Given the description of an element on the screen output the (x, y) to click on. 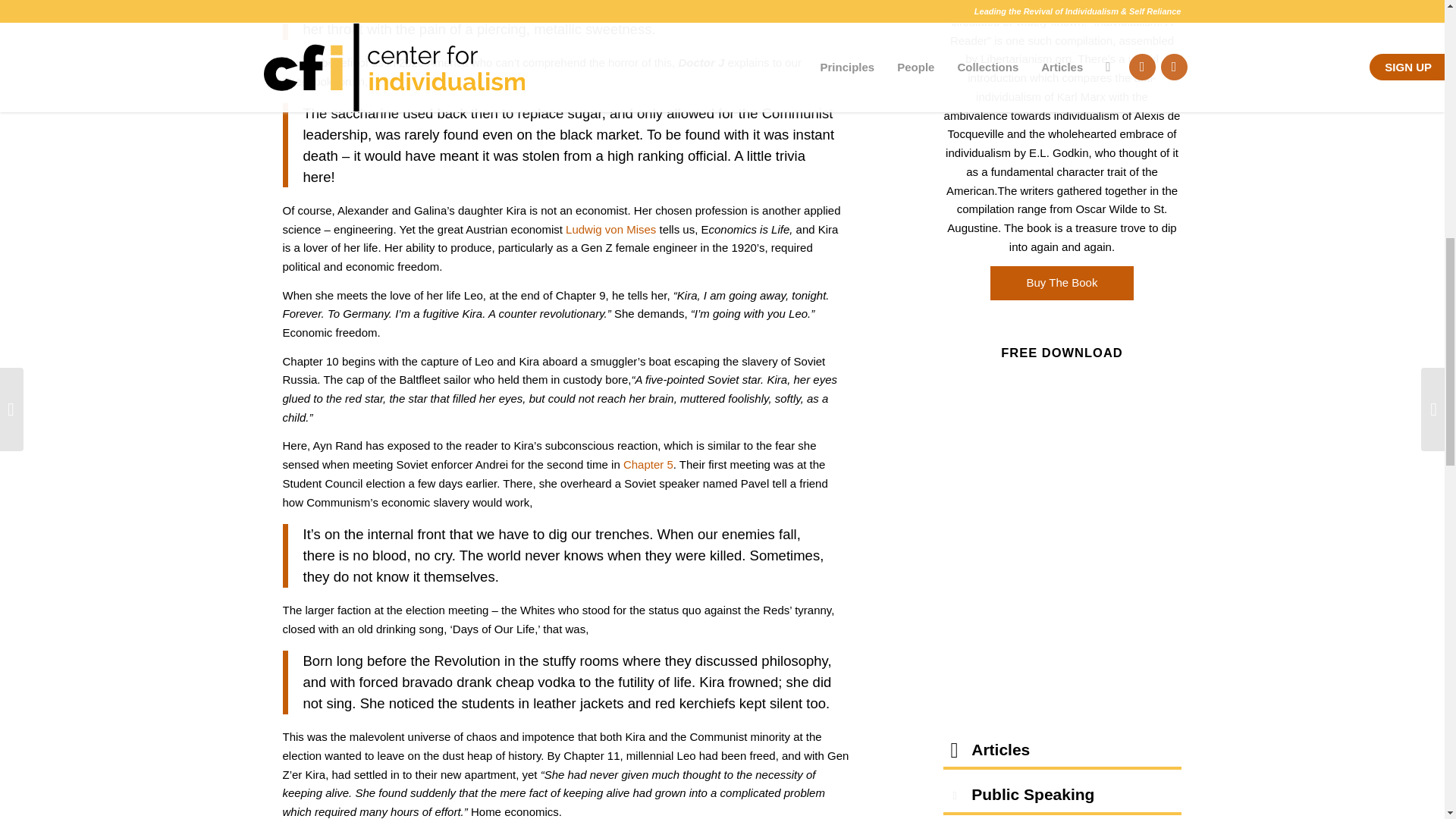
Ludwig von Mises (611, 228)
Chapter 5 (647, 463)
